Given the description of an element on the screen output the (x, y) to click on. 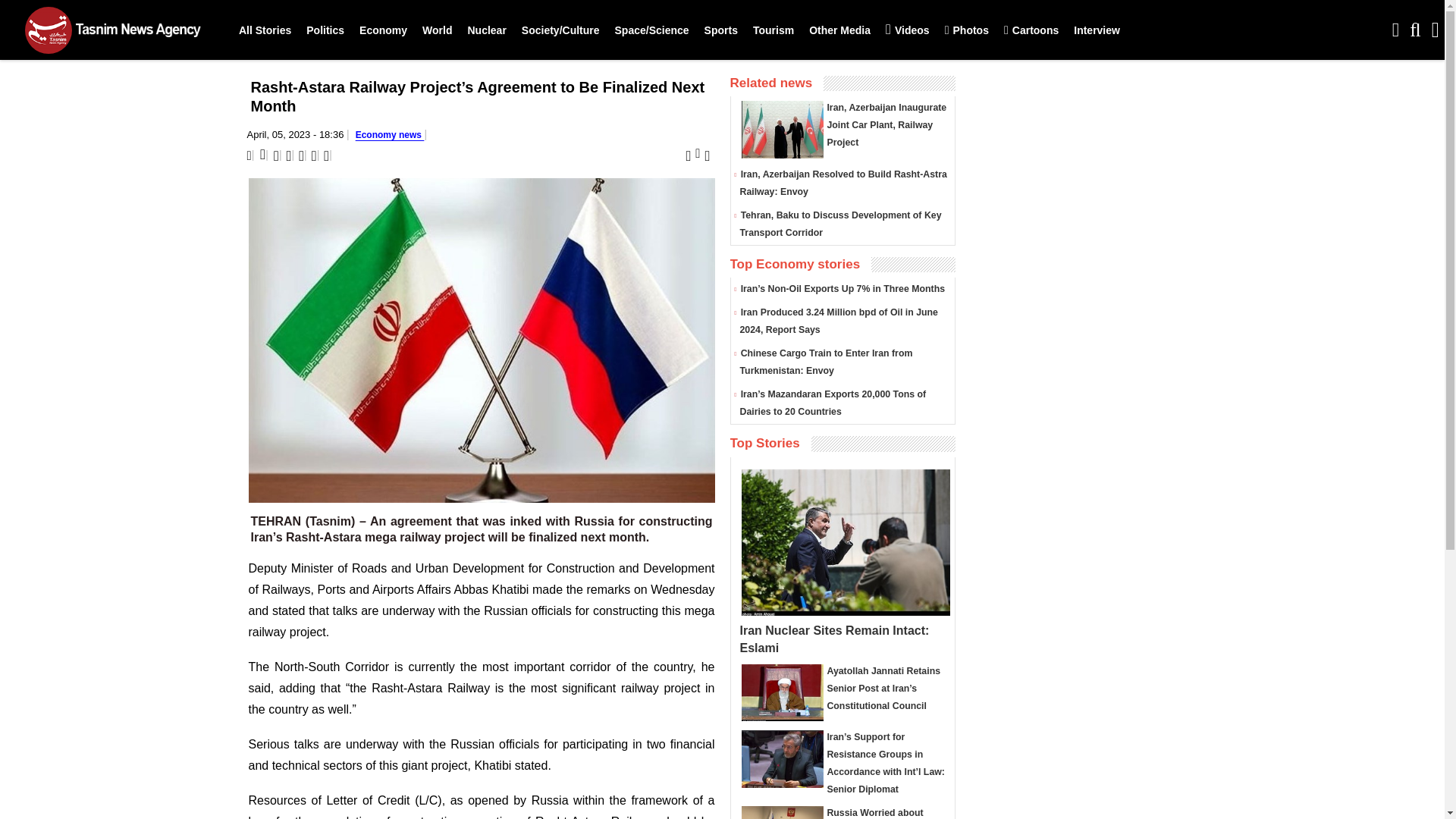
Other Media (839, 30)
All Stories (264, 30)
Videos (907, 30)
Photos (966, 30)
Tourism (773, 30)
Cartoons (1030, 30)
Interview (1095, 30)
Economy (383, 30)
